Given the description of an element on the screen output the (x, y) to click on. 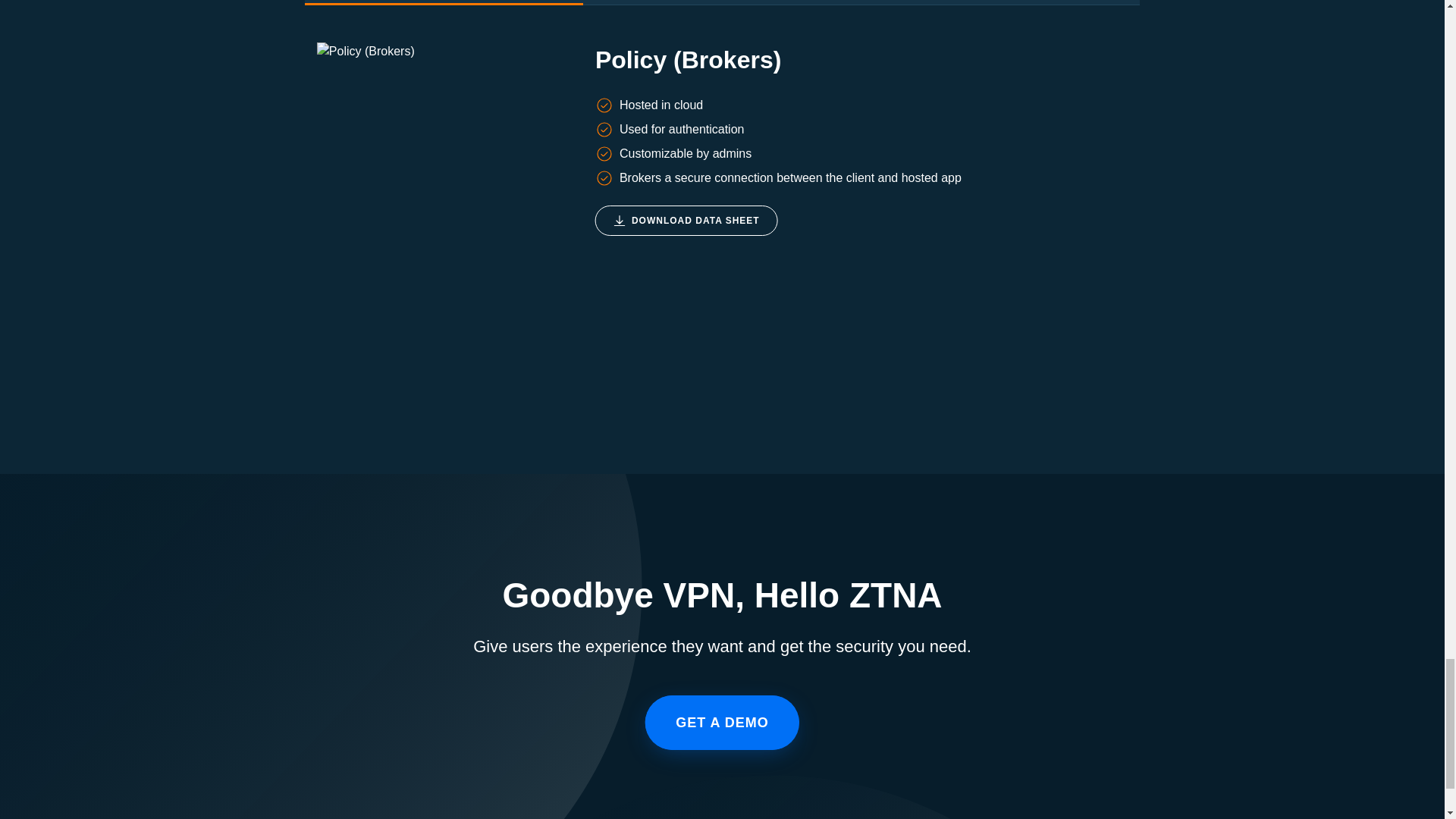
DOWNLOAD DATA SHEET (686, 220)
APP CONNECTOR (722, 2)
CLIENT CONNECTOR (1000, 2)
GET A DEMO (722, 722)
